Given the description of an element on the screen output the (x, y) to click on. 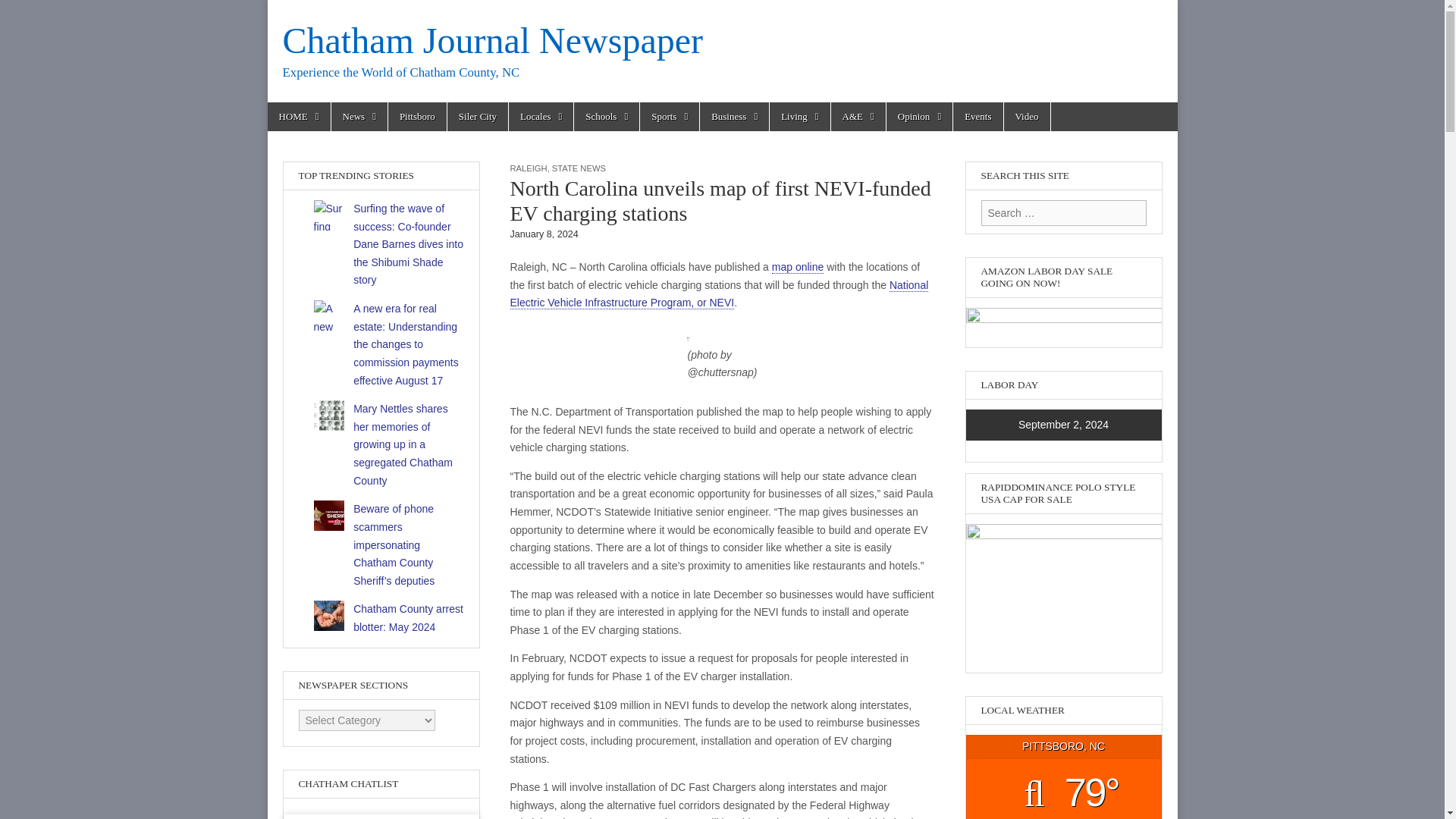
News (359, 116)
Chatham Journal Newspaper (492, 40)
Locales (540, 116)
Siler City (477, 116)
Schools (606, 116)
Chatham Journal Newspaper (492, 40)
